Given the description of an element on the screen output the (x, y) to click on. 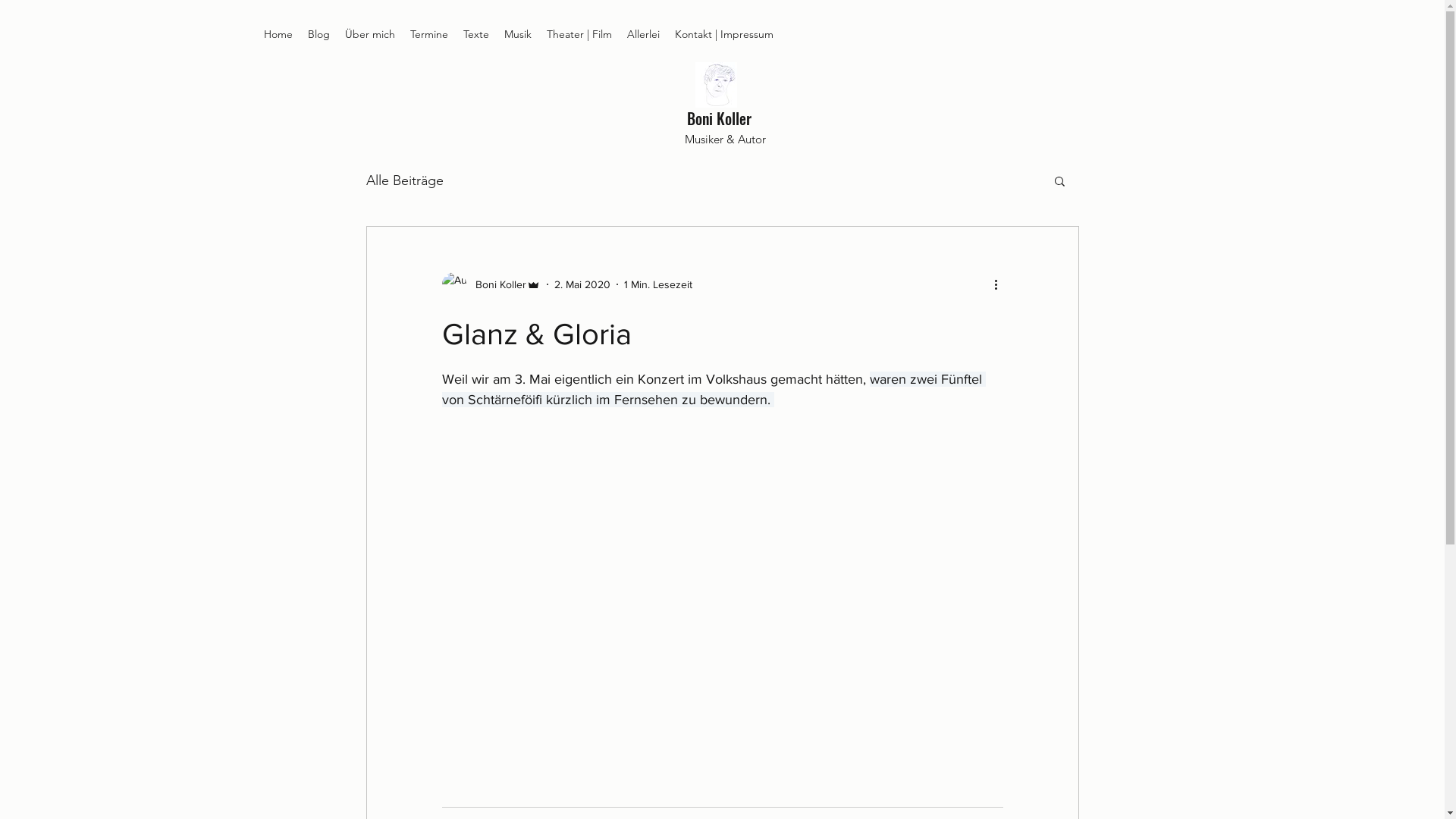
Home Element type: text (278, 33)
Blog Element type: text (318, 33)
Theater | Film Element type: text (579, 33)
Texte Element type: text (475, 33)
Musik Element type: text (517, 33)
Termine Element type: text (428, 33)
Allerlei Element type: text (643, 33)
Boni Koller Element type: text (719, 117)
Kontakt | Impressum Element type: text (724, 33)
